Given the description of an element on the screen output the (x, y) to click on. 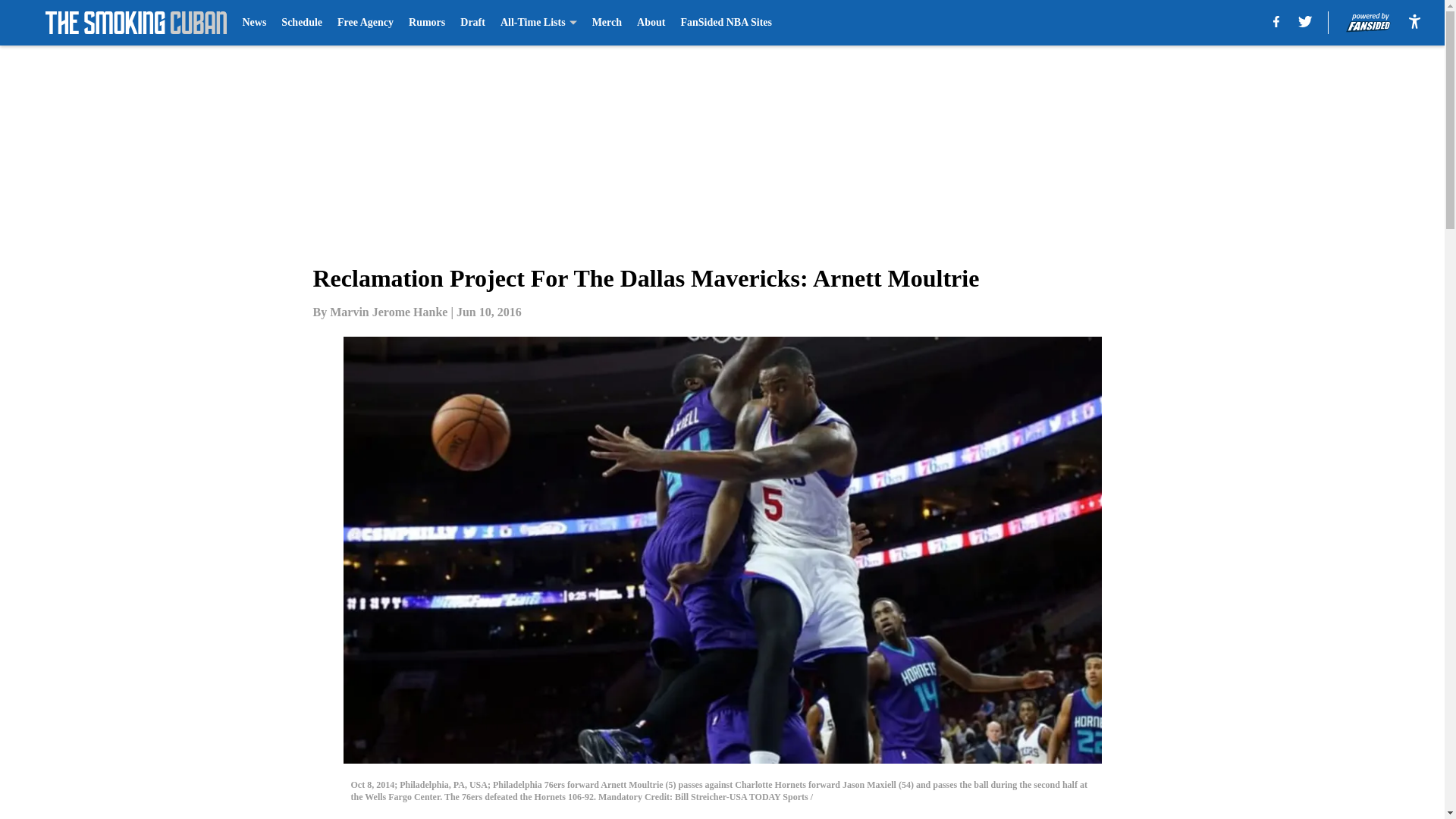
Draft (472, 22)
FanSided NBA Sites (725, 22)
All-Time Lists (538, 22)
Merch (606, 22)
Schedule (301, 22)
News (253, 22)
About (651, 22)
Free Agency (365, 22)
Rumors (427, 22)
